Given the description of an element on the screen output the (x, y) to click on. 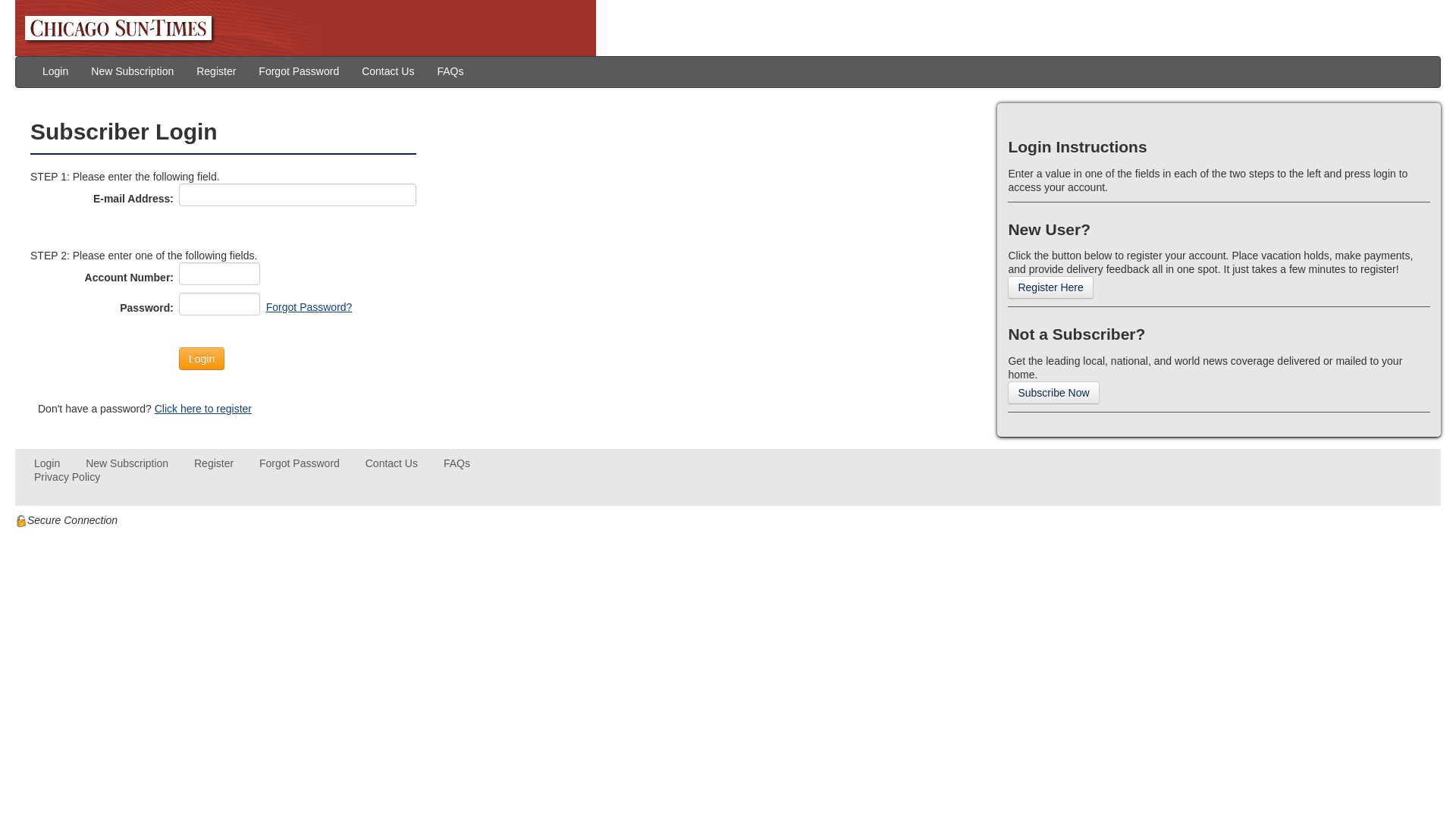
Forgot Password? (309, 306)
FAQs (457, 463)
Register Your Account (212, 463)
View Our Frequently Asked Questions (457, 463)
Subscribe Now (1053, 391)
New Subscription (132, 70)
Privacy Policy (66, 476)
Contact Us (387, 70)
Register Here (1050, 287)
Forgot Password (299, 463)
Login (201, 358)
Visit Our Home Page (304, 27)
Register Your Account (215, 70)
Forgot Password (298, 70)
Log in to your account (46, 463)
